Given the description of an element on the screen output the (x, y) to click on. 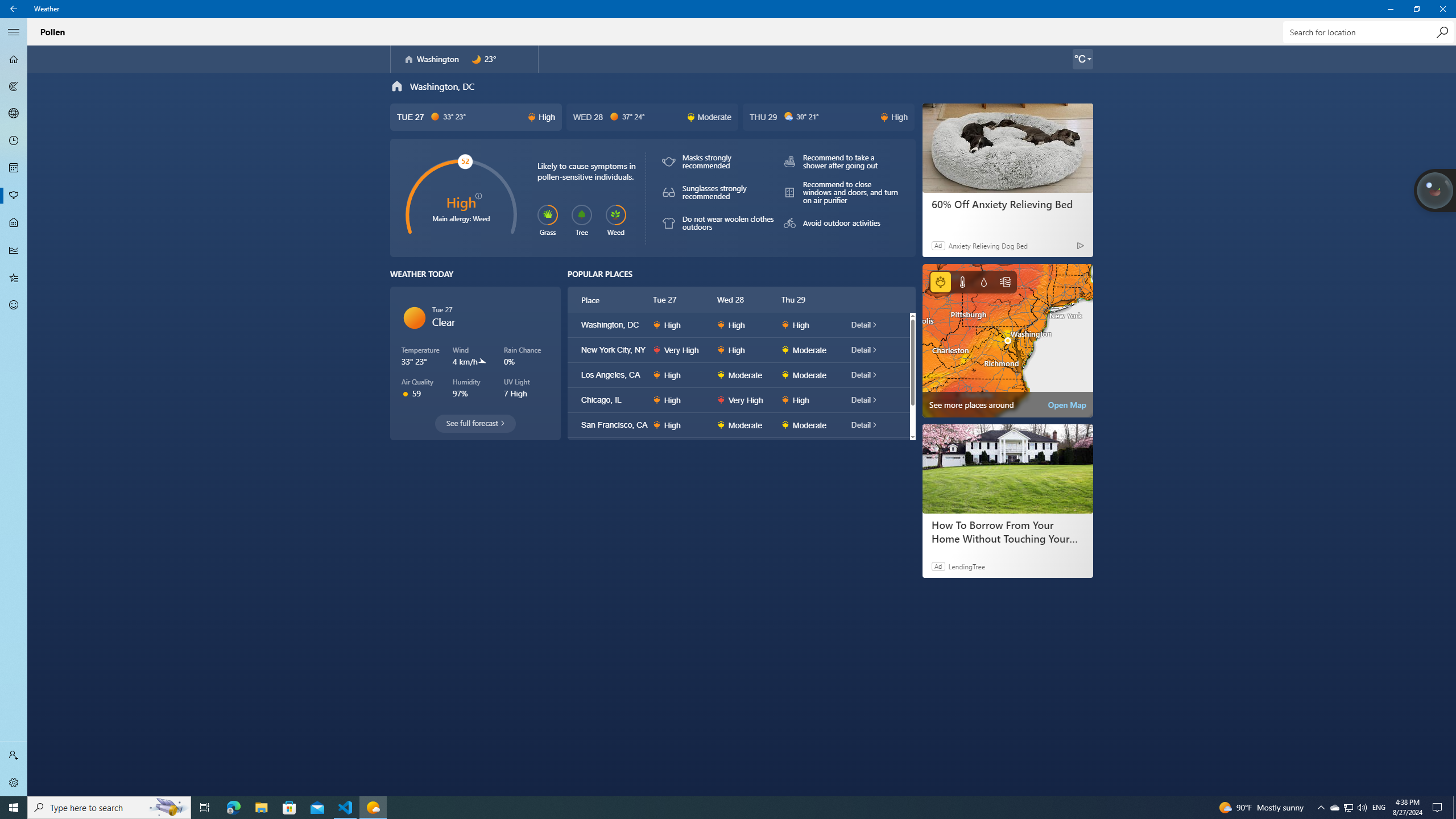
Hourly Forecast - Not Selected (13, 140)
Back (13, 9)
